Given the description of an element on the screen output the (x, y) to click on. 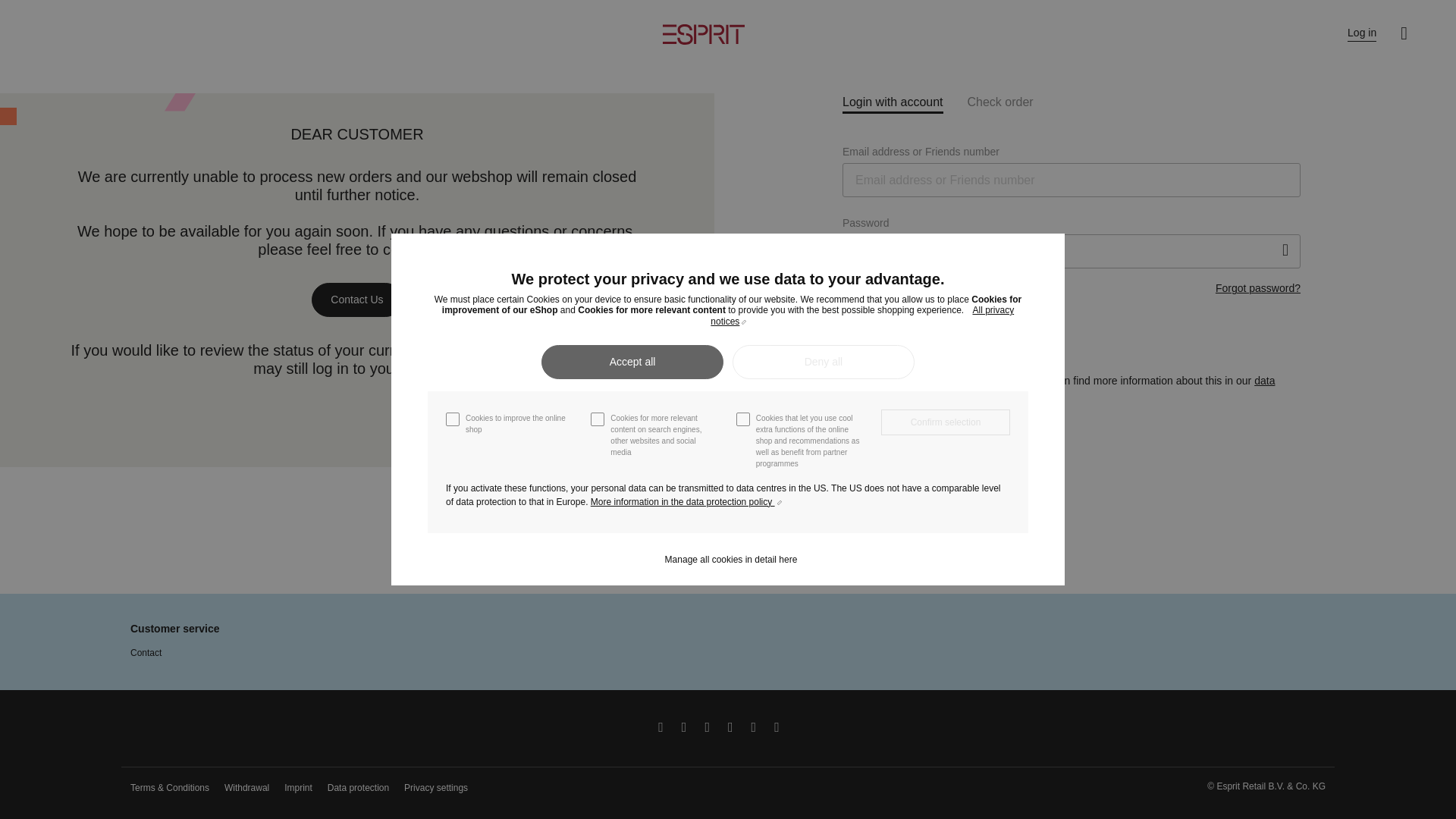
Login with account (893, 103)
Forgot password? (1257, 288)
Esprit Logo (703, 34)
Log in (1361, 33)
Imprint (298, 787)
Contact (146, 652)
Contact Us (356, 299)
Privacy settings (435, 787)
Withdrawal (246, 787)
Check order (1000, 102)
data protection (1059, 388)
Data protection (357, 787)
Login (952, 337)
Forgot password? (1257, 288)
data protection (1059, 388)
